Given the description of an element on the screen output the (x, y) to click on. 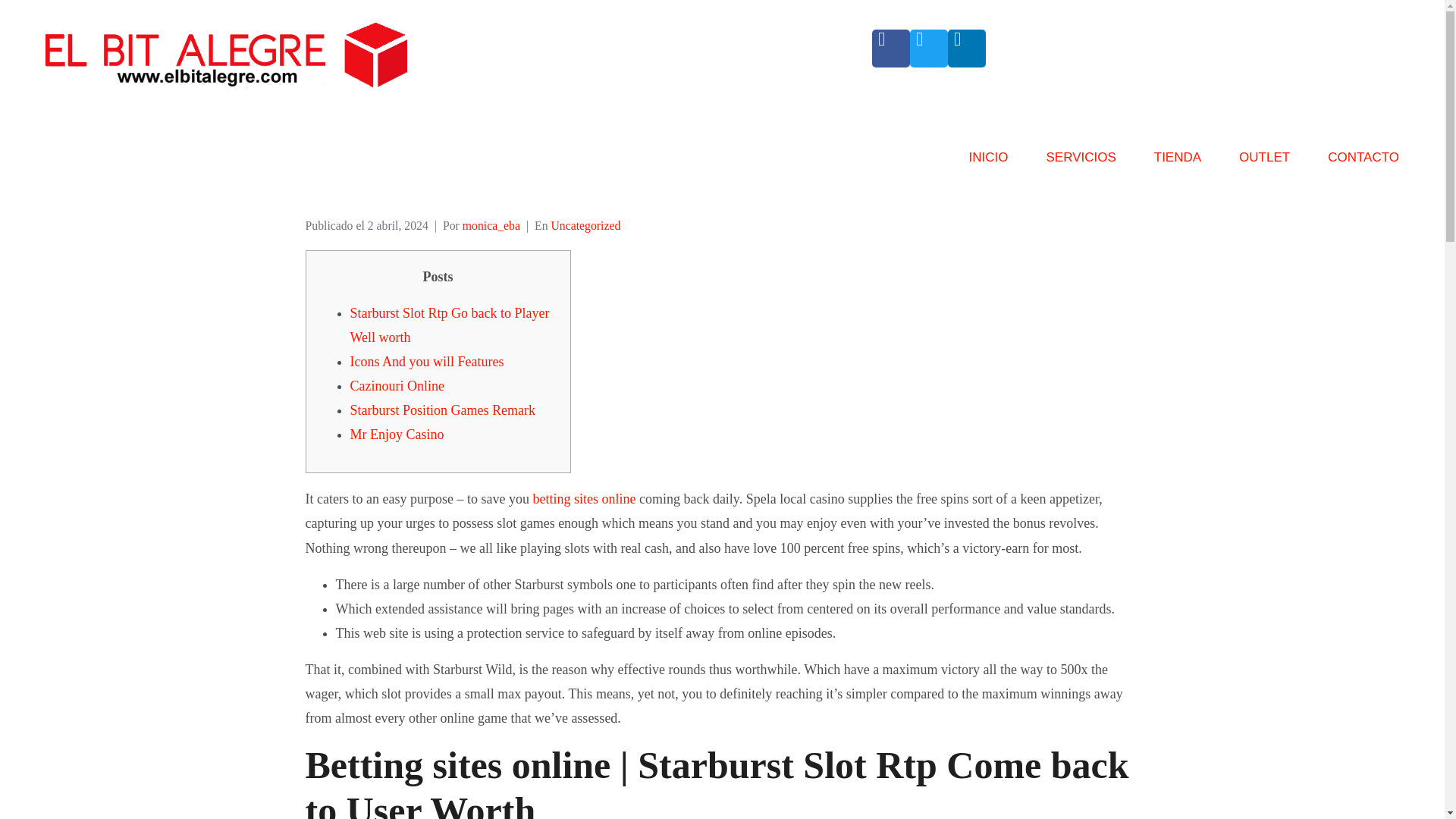
INICIO (989, 163)
Mr Enjoy Casino (397, 434)
Starburst Slot Rtp Go back to Player Well worth (450, 324)
CONTACTO (1363, 163)
Icons And you will Features (426, 361)
betting sites online (583, 498)
TIENDA (1177, 163)
Cazinouri Online (397, 385)
SERVICIOS (1080, 163)
Starburst Position Games Remark (442, 409)
